Given the description of an element on the screen output the (x, y) to click on. 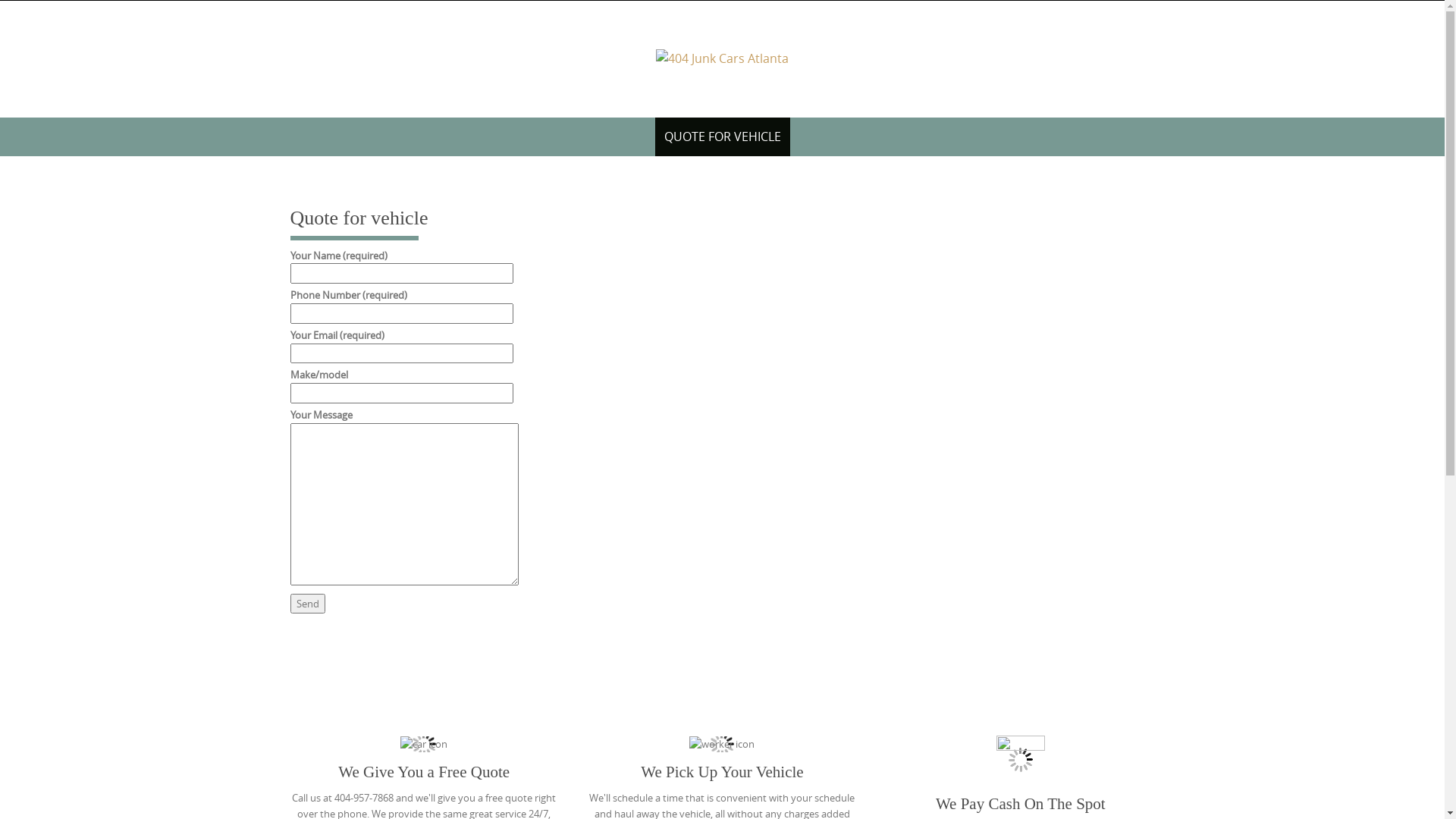
Send Element type: text (306, 603)
QUOTE FOR VEHICLE Element type: text (722, 136)
Skip to content Element type: text (274, 116)
